Given the description of an element on the screen output the (x, y) to click on. 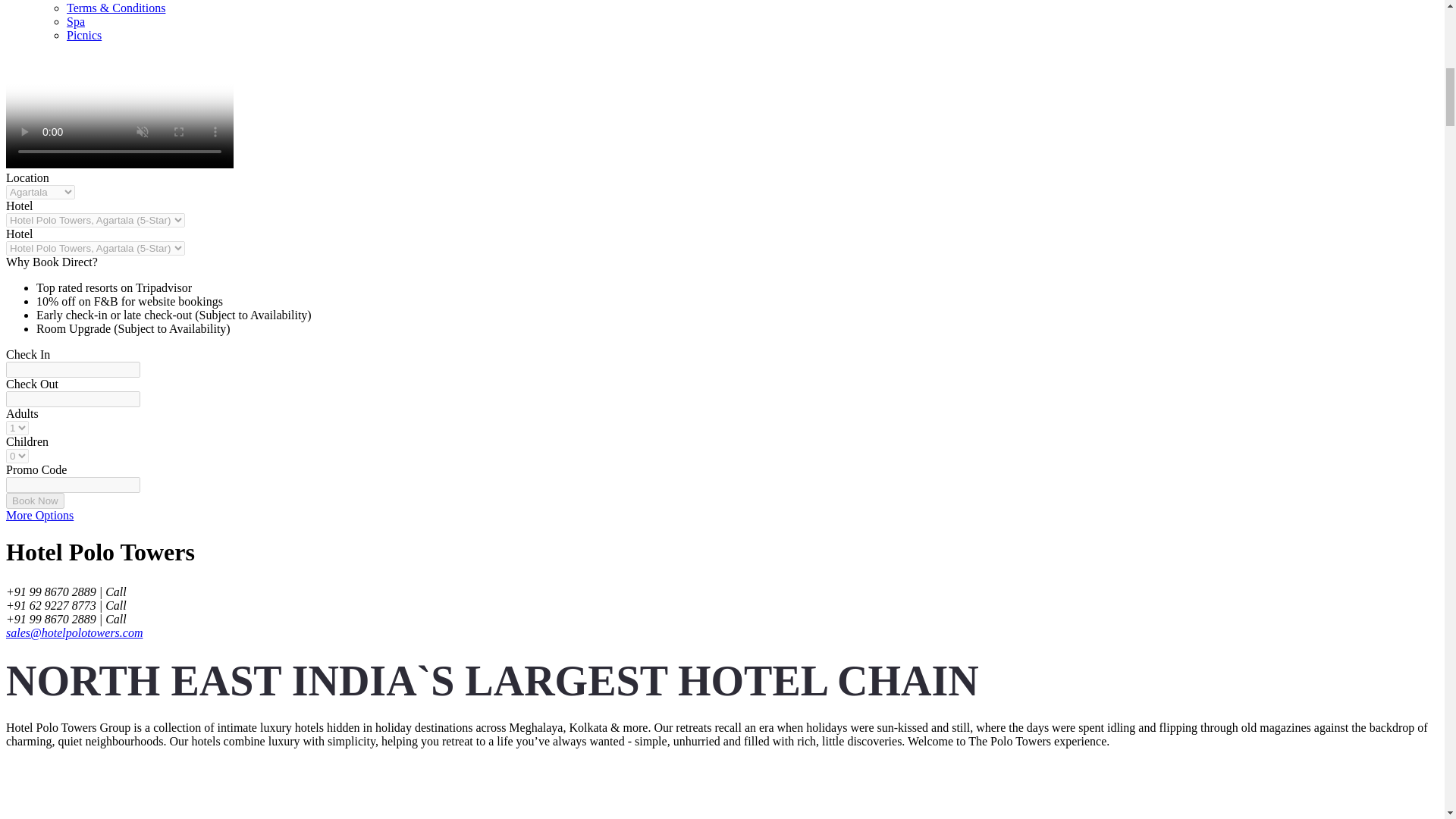
Why Book Direct? (51, 261)
Picnics (83, 34)
Spa (75, 21)
Book Now (34, 500)
More Options (39, 514)
Book Now (34, 500)
